Given the description of an element on the screen output the (x, y) to click on. 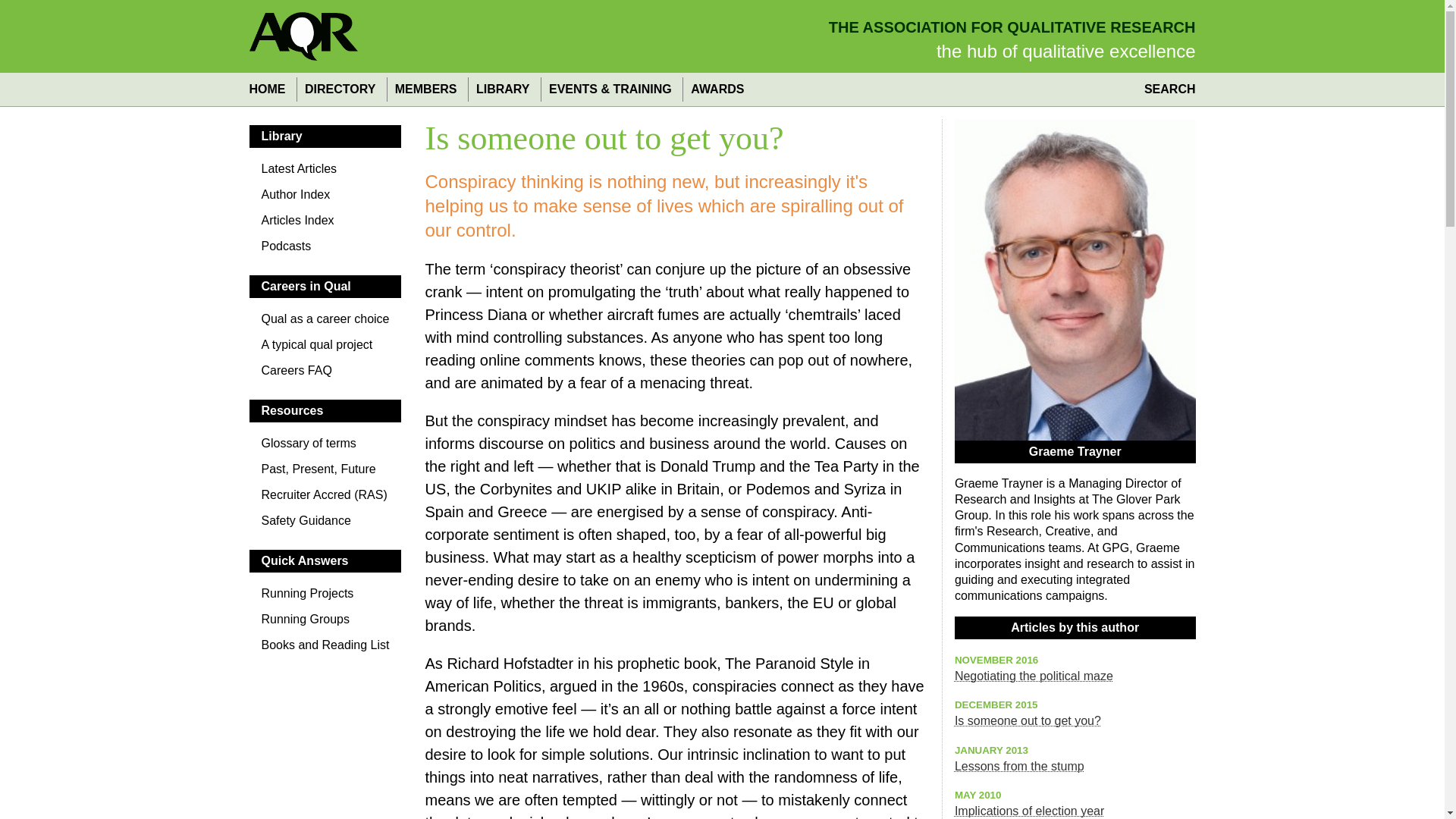
Qual as a career choice (324, 322)
A typical qual project (324, 348)
Safety Guidance (324, 524)
Past, Present, Future (324, 473)
Is someone out to get you? (1027, 720)
SEARCH (1166, 88)
HOME (270, 88)
Glossary of terms (324, 447)
Latest Articles (324, 172)
Running Projects (324, 597)
Books and Reading List (324, 648)
Author Index (324, 198)
Implications of election year (1029, 810)
Negotiating the political maze (1034, 675)
Lessons from the stump (1019, 766)
